Given the description of an element on the screen output the (x, y) to click on. 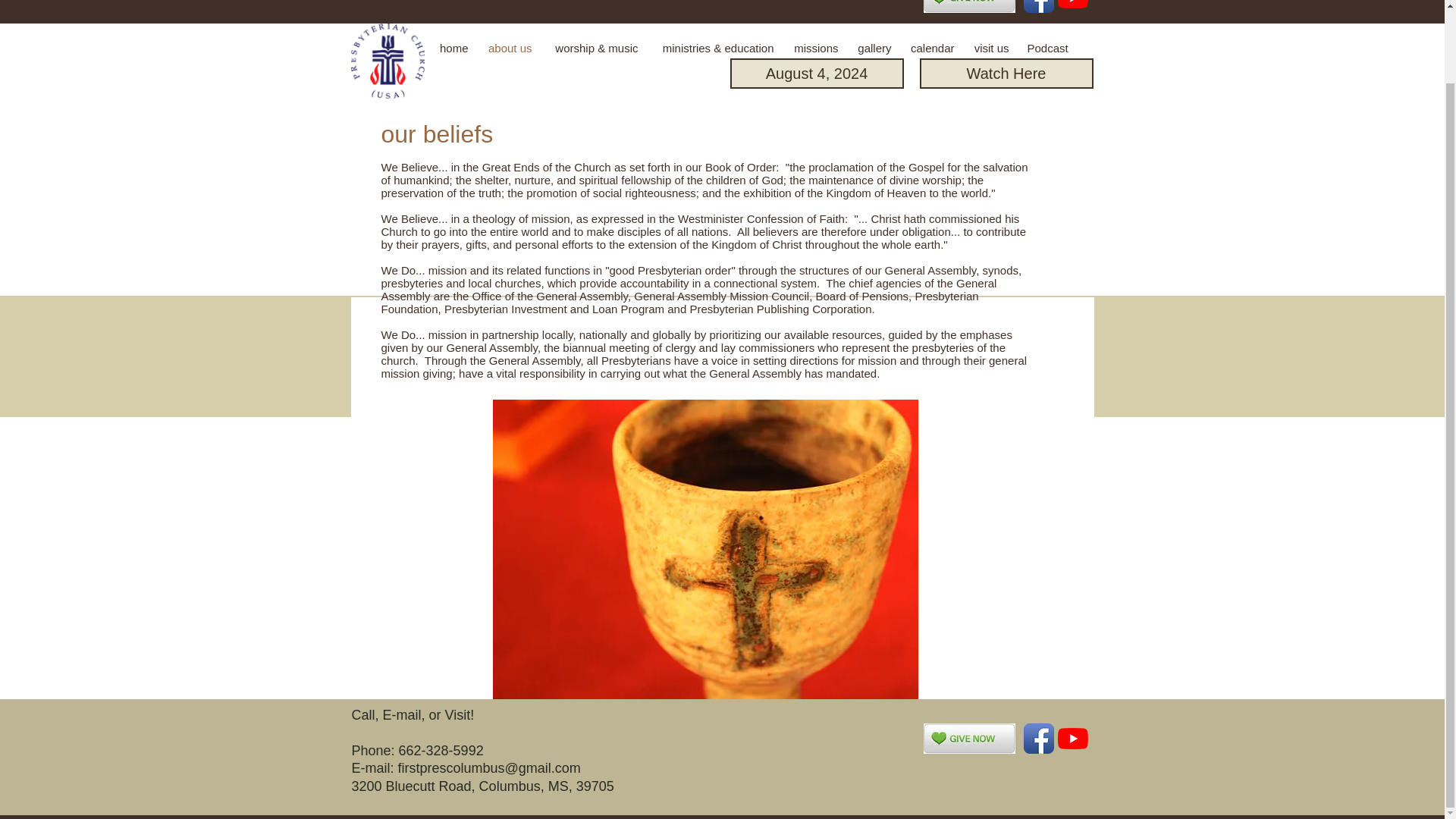
missions (815, 47)
gallery (874, 47)
Podcast (1047, 47)
visit us (989, 47)
give button.jpg (968, 6)
calendar (932, 47)
Watch Here (1005, 73)
give button.jpg (968, 738)
August 4, 2024 (815, 73)
home (453, 47)
